Given the description of an element on the screen output the (x, y) to click on. 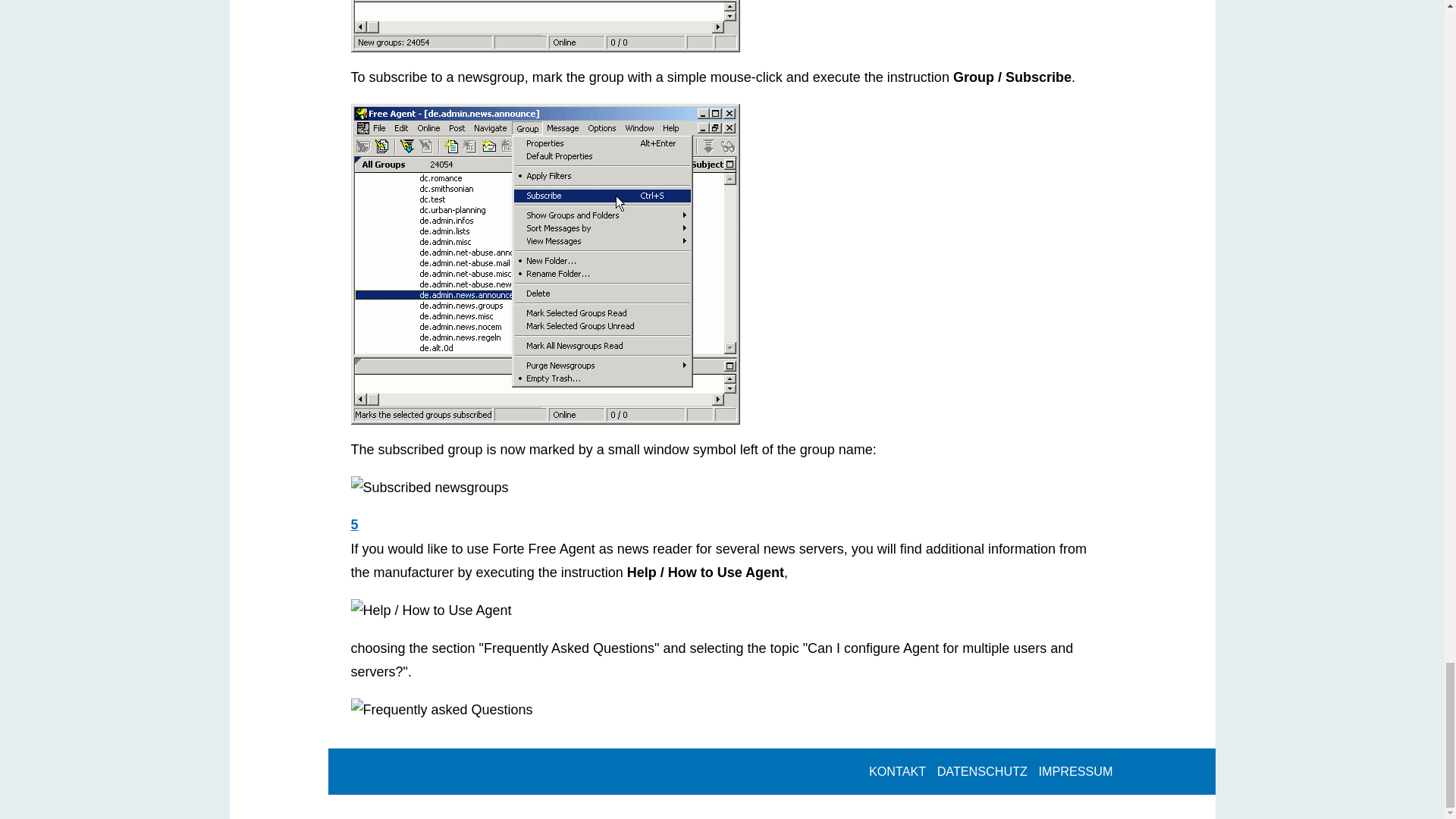
DATENSCHUTZ (981, 771)
IMPRESSUM (1074, 771)
KONTAKT (897, 771)
